Given the description of an element on the screen output the (x, y) to click on. 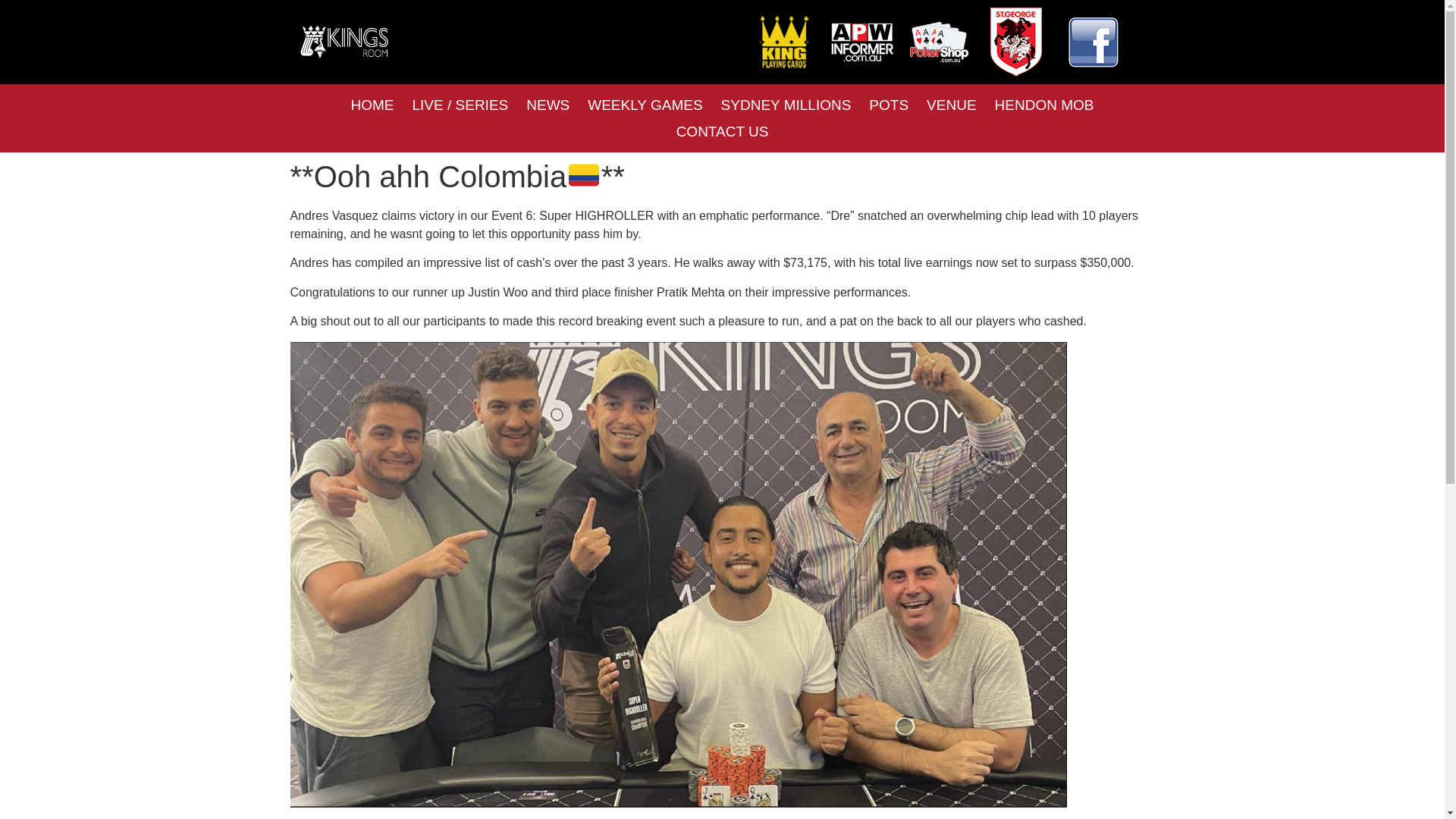
HOME (372, 104)
VENUE (951, 104)
HENDON MOB (1044, 104)
CONTACT US (721, 130)
WEEKLY GAMES (644, 104)
SYDNEY MILLIONS (785, 104)
NEWS (547, 104)
POTS (888, 104)
